Given the description of an element on the screen output the (x, y) to click on. 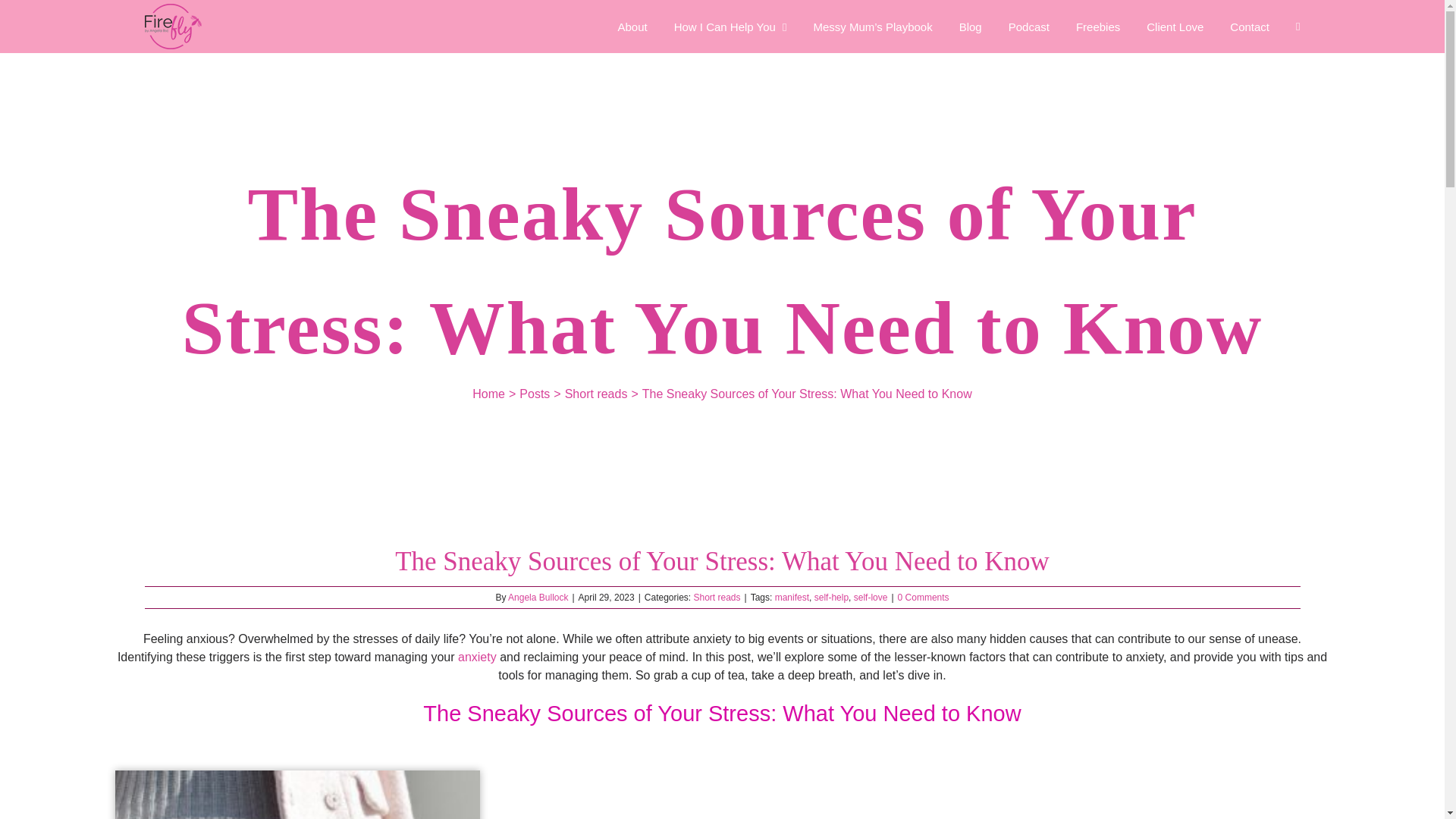
Posts by Angela Bullock (537, 597)
The Sneaky Sources of Your Stress- What You Need to Know (297, 794)
Client Love (1175, 26)
How I Can Help You (730, 26)
